Given the description of an element on the screen output the (x, y) to click on. 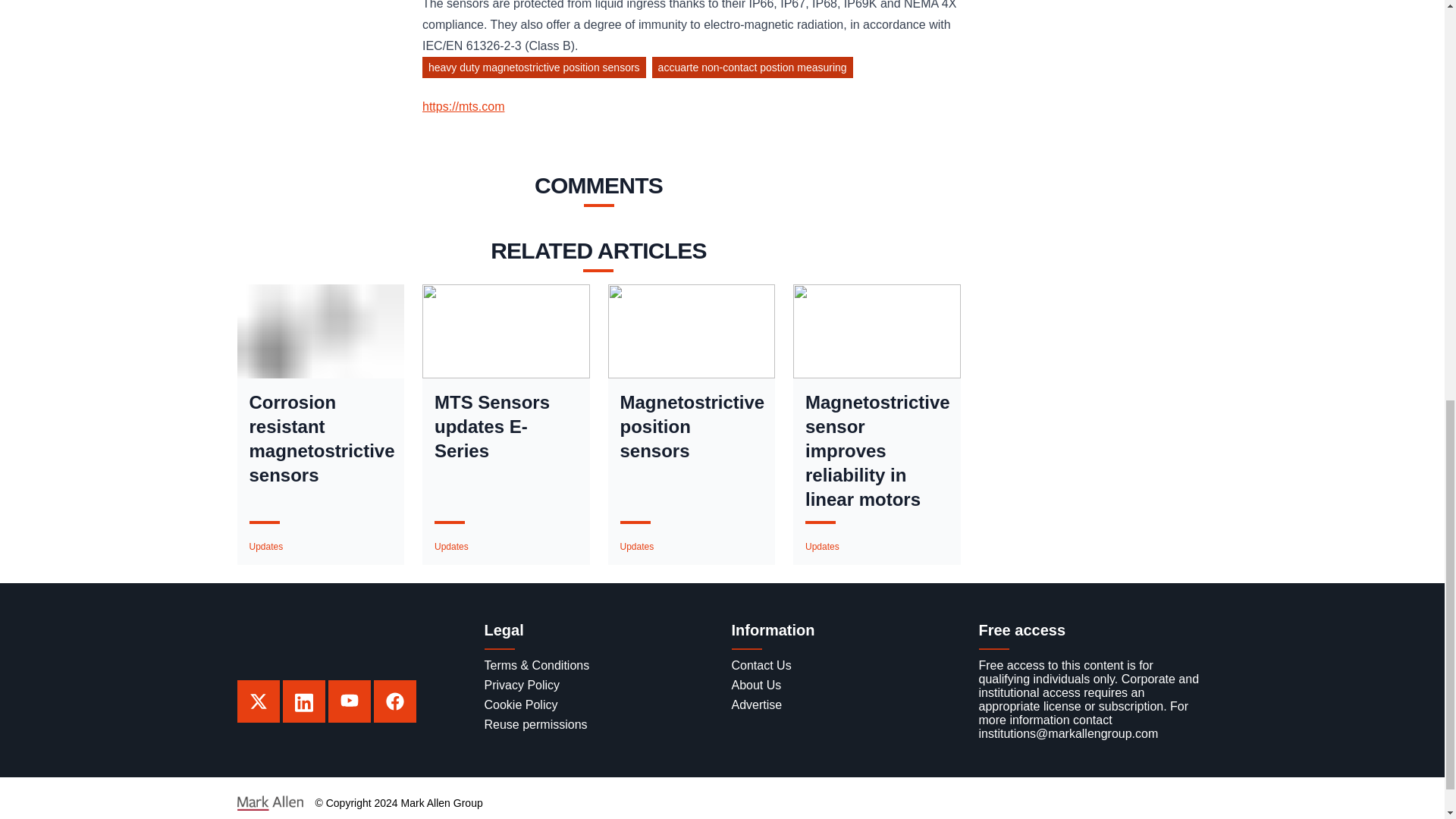
Updates (822, 546)
Updates (450, 546)
Corrosion resistant magnetostrictive sensors (319, 438)
Magnetostrictive position sensors (691, 426)
MTS Sensors updates E-Series (505, 426)
Updates (265, 546)
Updates (636, 546)
accuarte non-contact postion measuring (755, 70)
heavy duty magnetostrictive position sensors (537, 70)
